Given the description of an element on the screen output the (x, y) to click on. 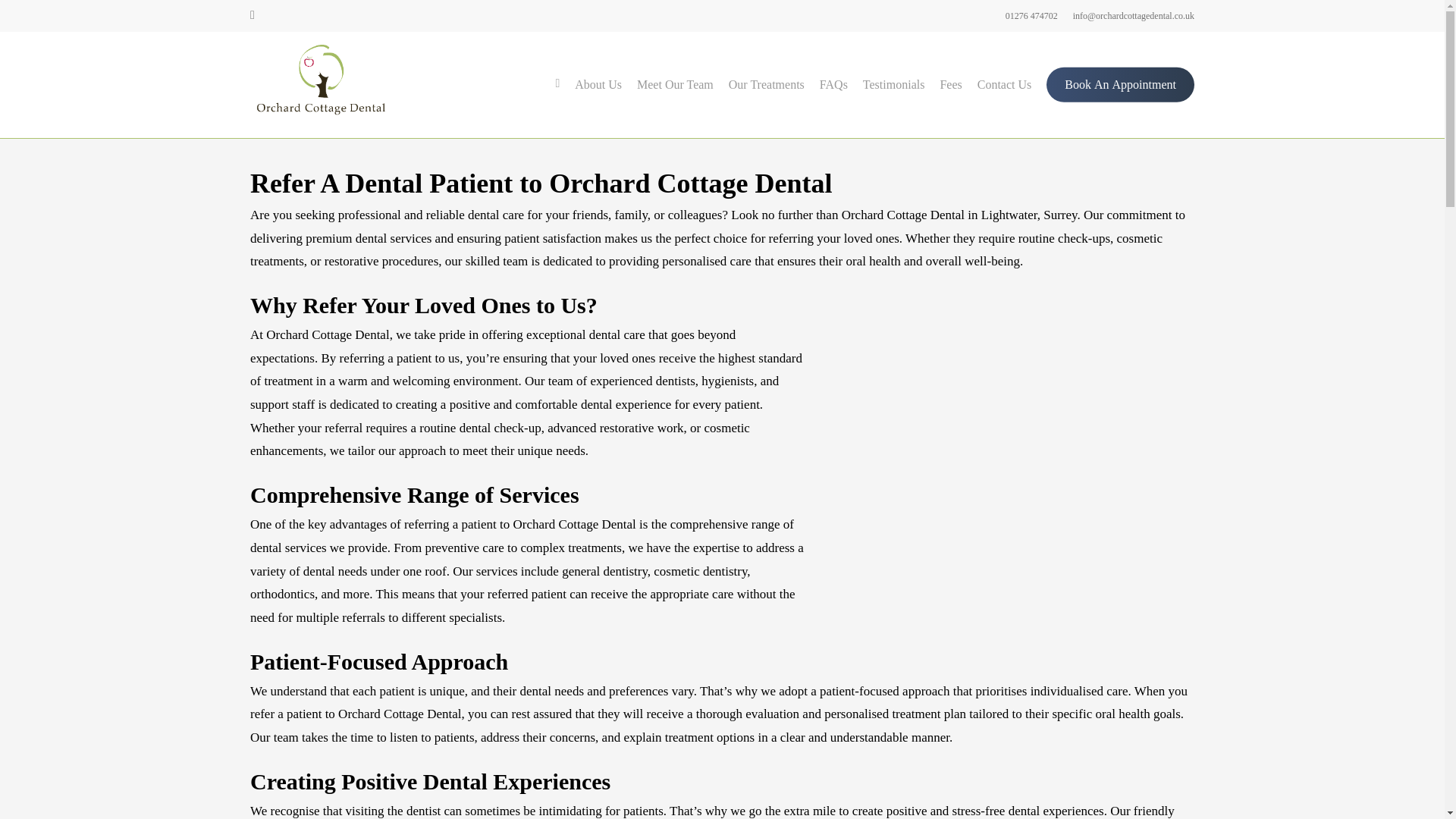
Our Treatments (767, 84)
01276 474702 (1032, 15)
FAQs (833, 84)
Testimonials (893, 84)
Meet Our Team (675, 84)
Fees (949, 84)
Contact Us (1004, 84)
Book An Appointment (1119, 84)
About Us (598, 84)
